Given the description of an element on the screen output the (x, y) to click on. 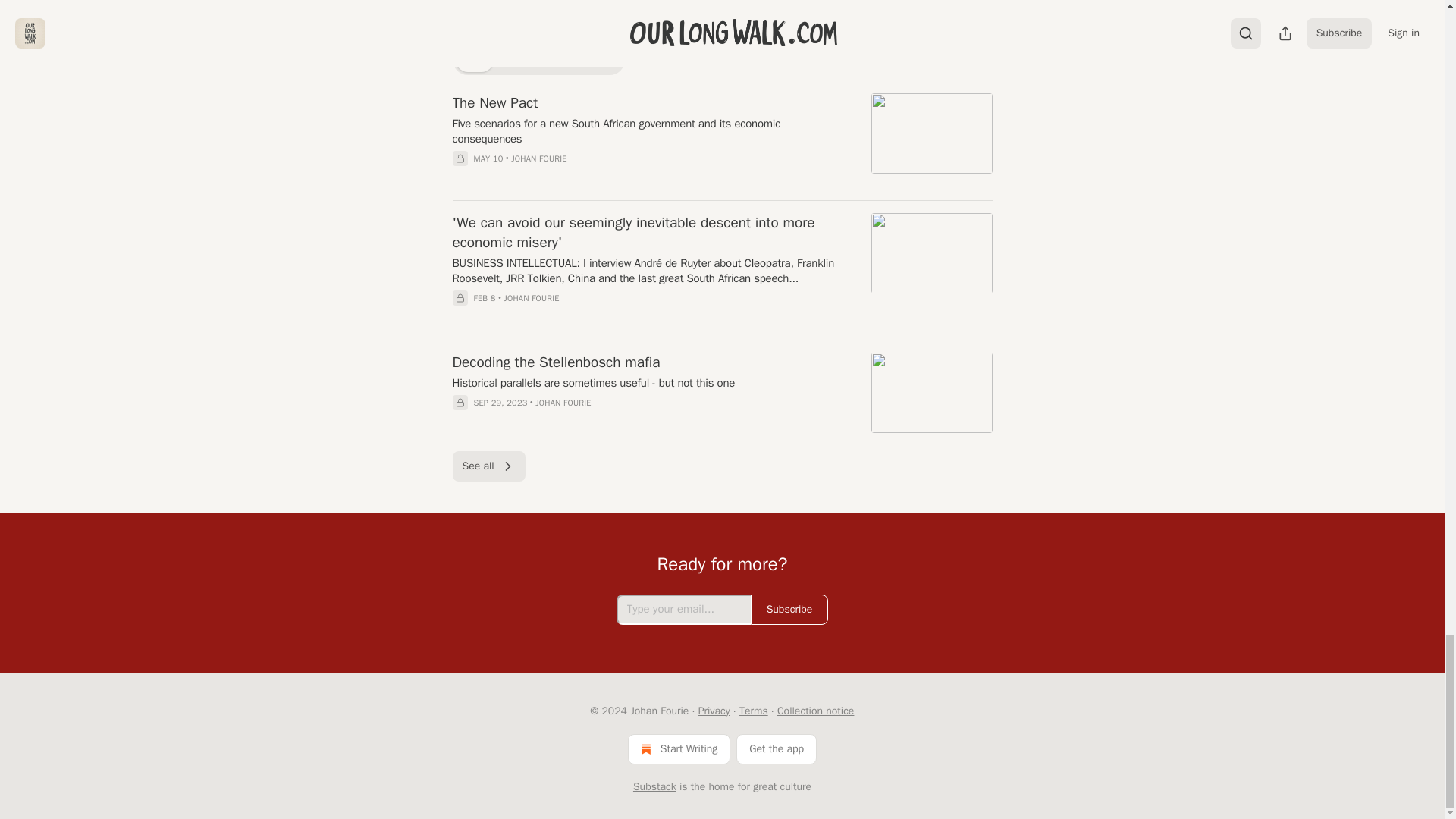
Latest (518, 59)
Top (471, 59)
The New Pact (651, 103)
Discussions (585, 59)
